Given the description of an element on the screen output the (x, y) to click on. 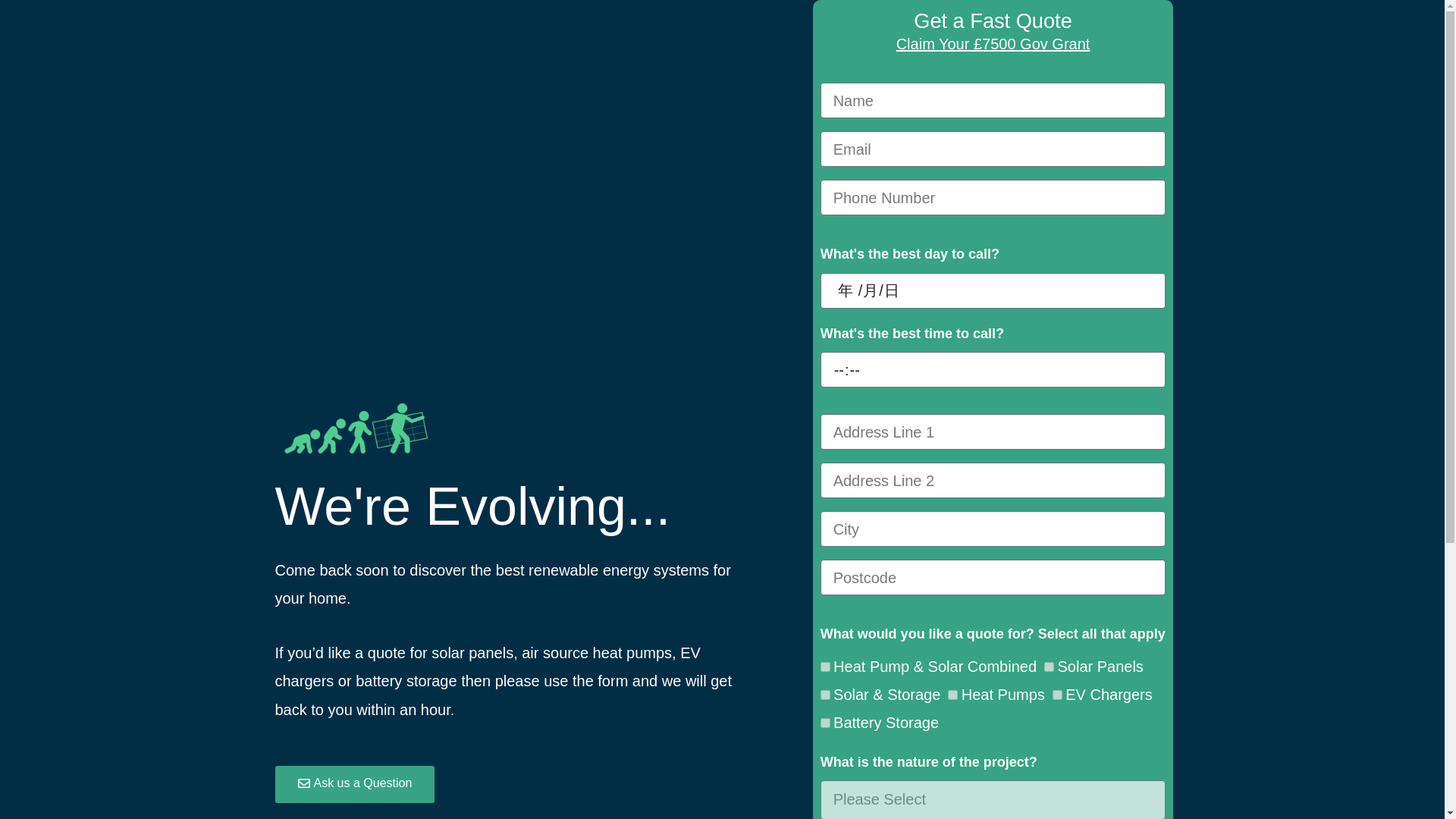
Battery Storage (825, 723)
Heat Pumps (952, 695)
Ask us a Question (354, 784)
Solar Panels (1048, 666)
EV Chargers (1057, 695)
